Given the description of an element on the screen output the (x, y) to click on. 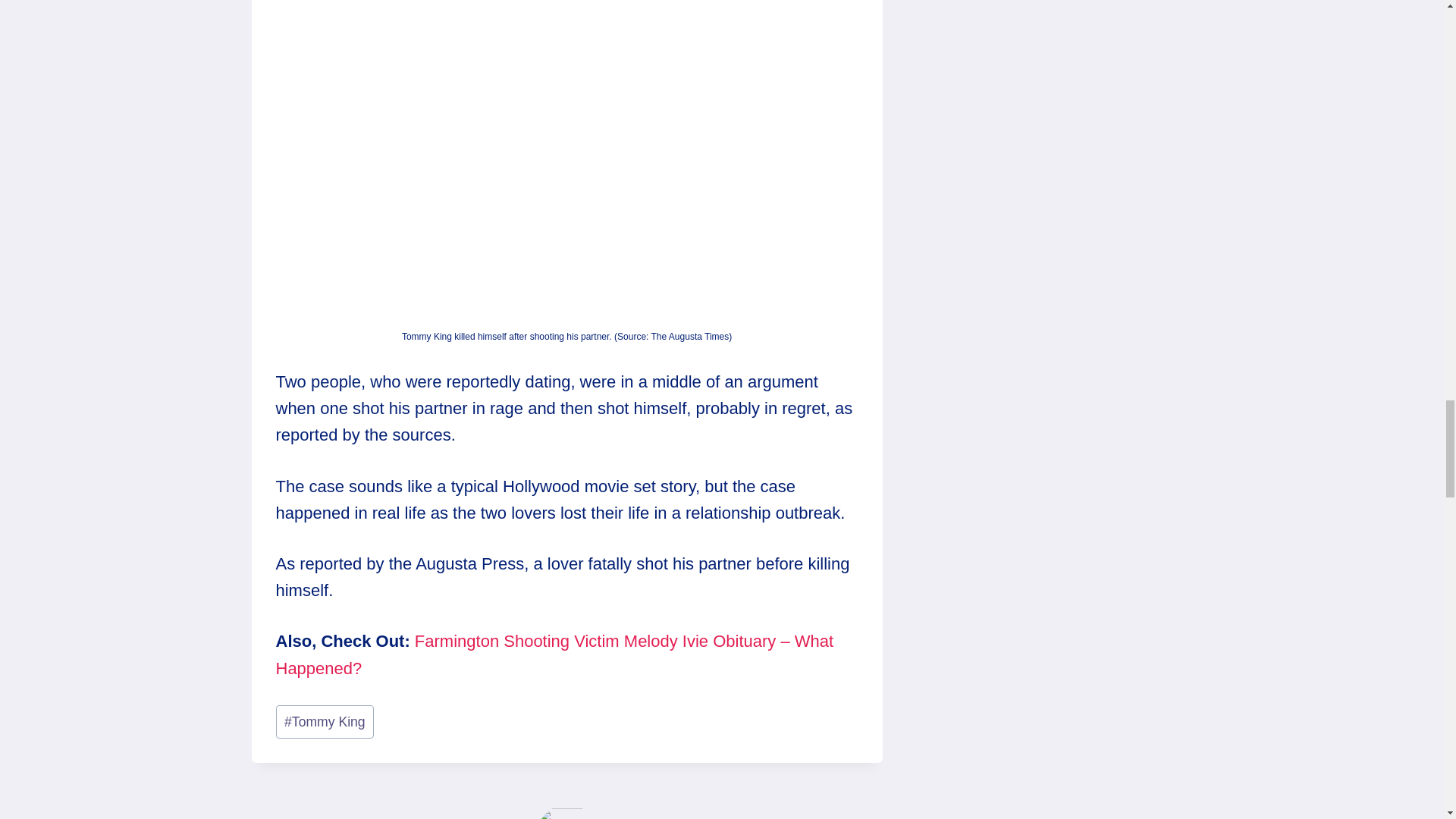
Tommy King (325, 721)
